Given the description of an element on the screen output the (x, y) to click on. 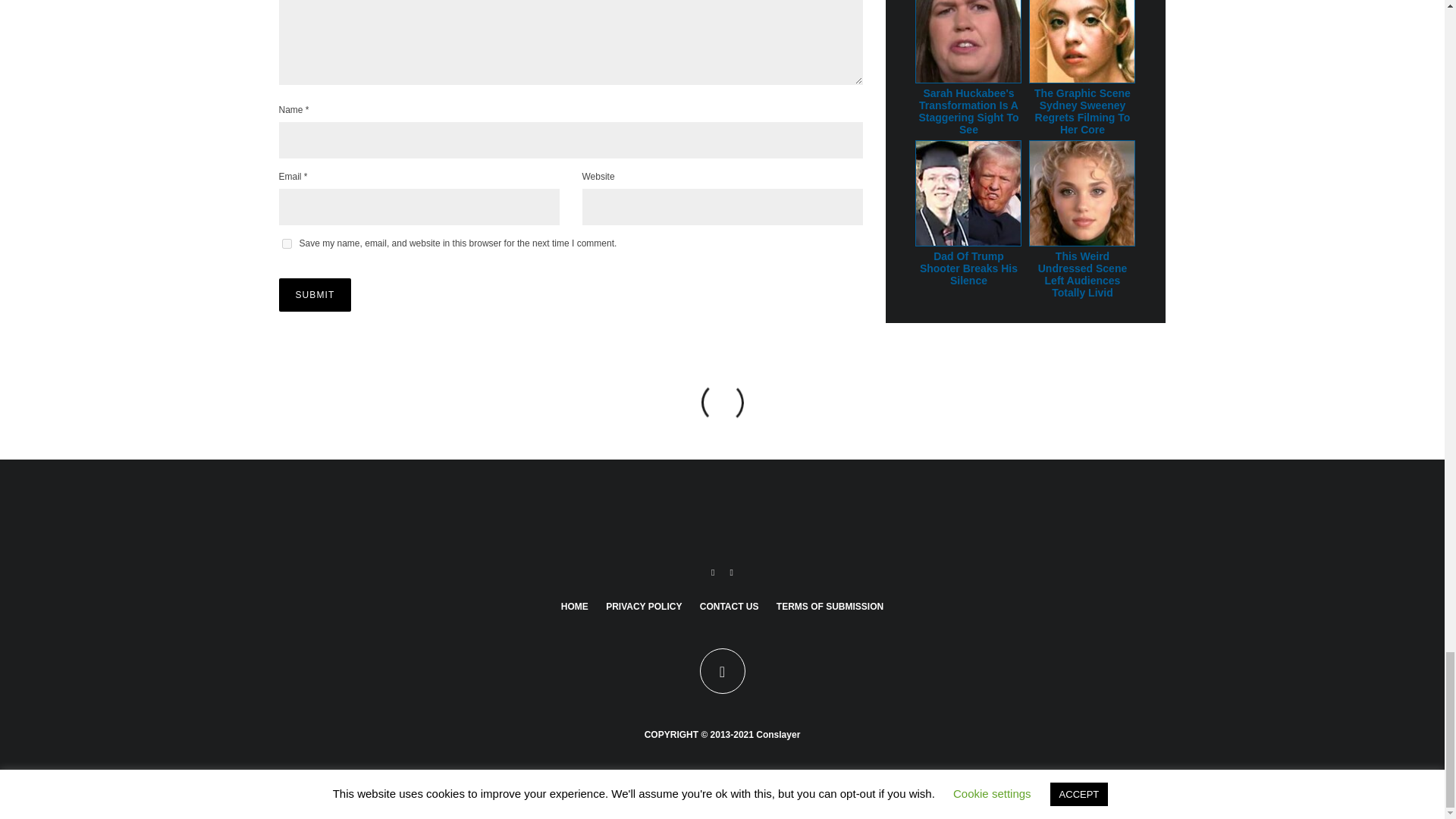
Submit (315, 295)
yes (287, 243)
